Given the description of an element on the screen output the (x, y) to click on. 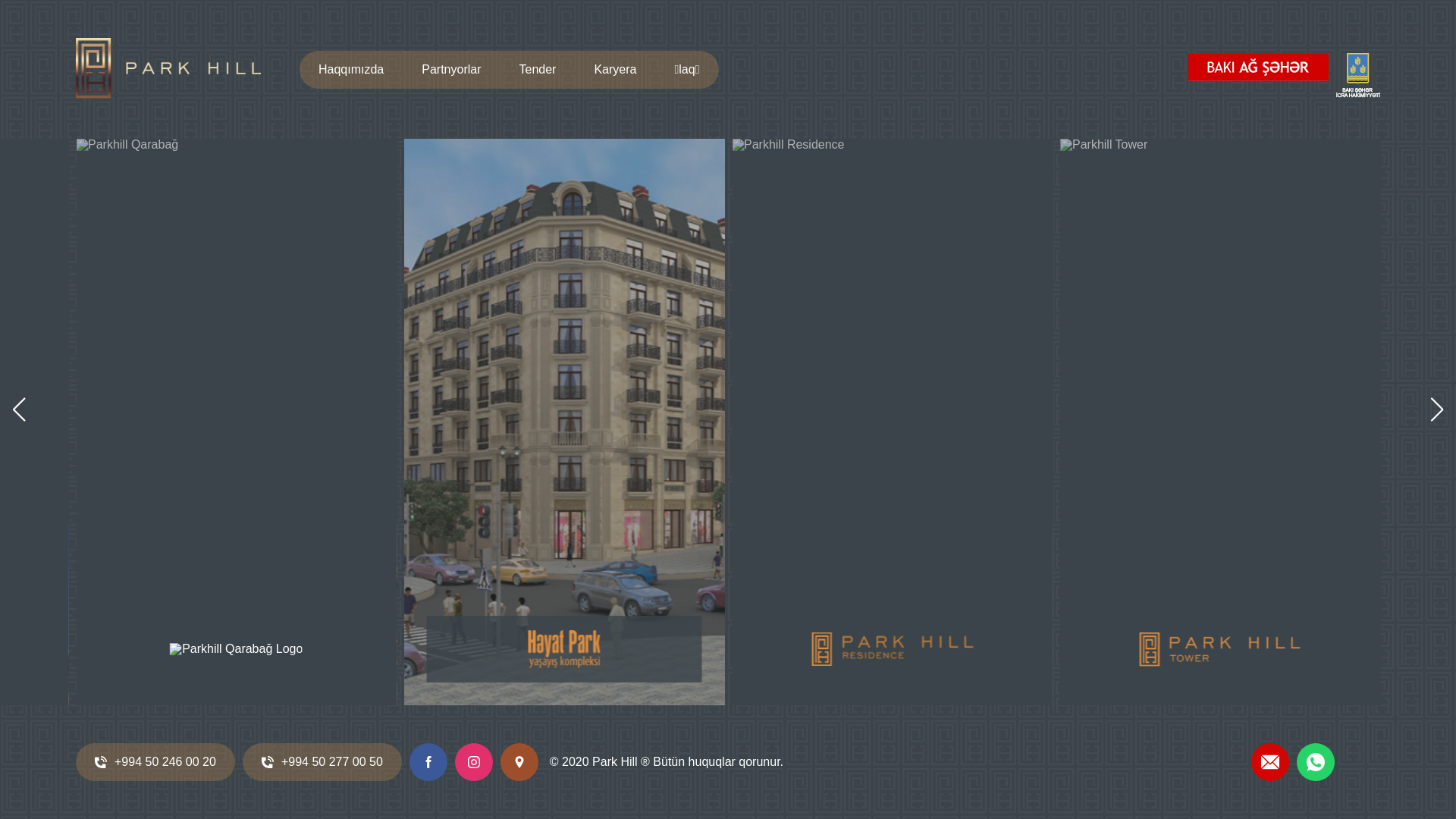
Parkhill Properties Element type: hover (168, 68)
Partnyorlar Element type: text (450, 68)
Karyera Element type: text (614, 68)
+994 50 246 00 20 Element type: text (155, 762)
Tender Element type: text (537, 68)
+994 50 277 00 50 Element type: text (321, 762)
